Given the description of an element on the screen output the (x, y) to click on. 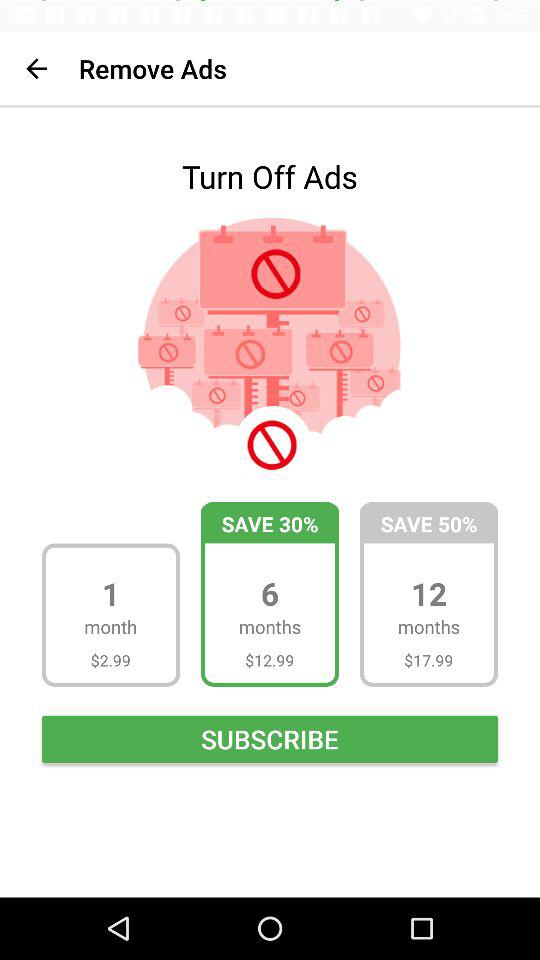
turn off subscribe item (269, 738)
